Given the description of an element on the screen output the (x, y) to click on. 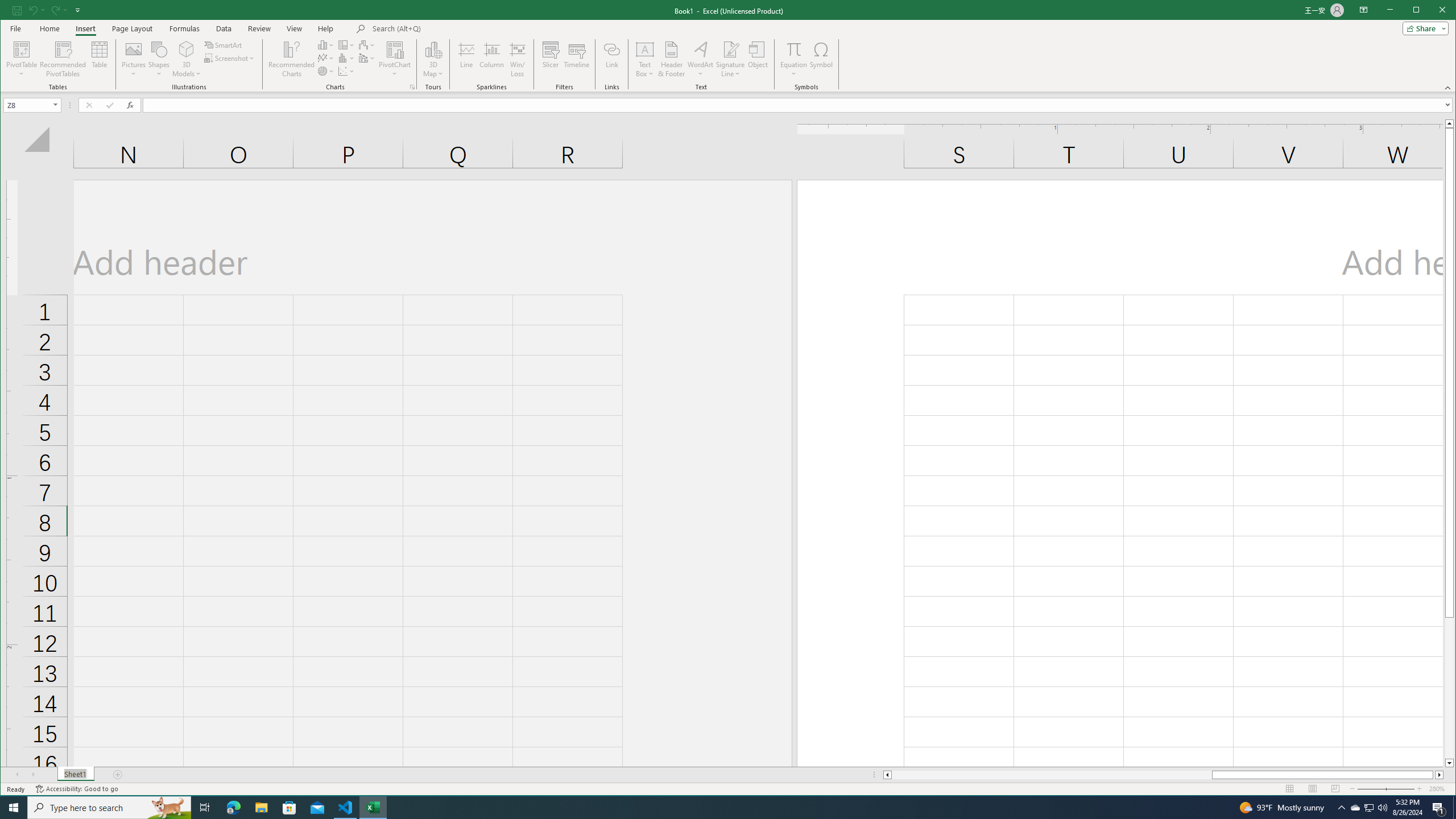
Insert Pie or Doughnut Chart (325, 70)
Search highlights icon opens search home window (167, 807)
Equation (1355, 807)
PivotTable (793, 59)
Signature Line (22, 59)
3D Models (729, 48)
Shapes (186, 59)
